Given the description of an element on the screen output the (x, y) to click on. 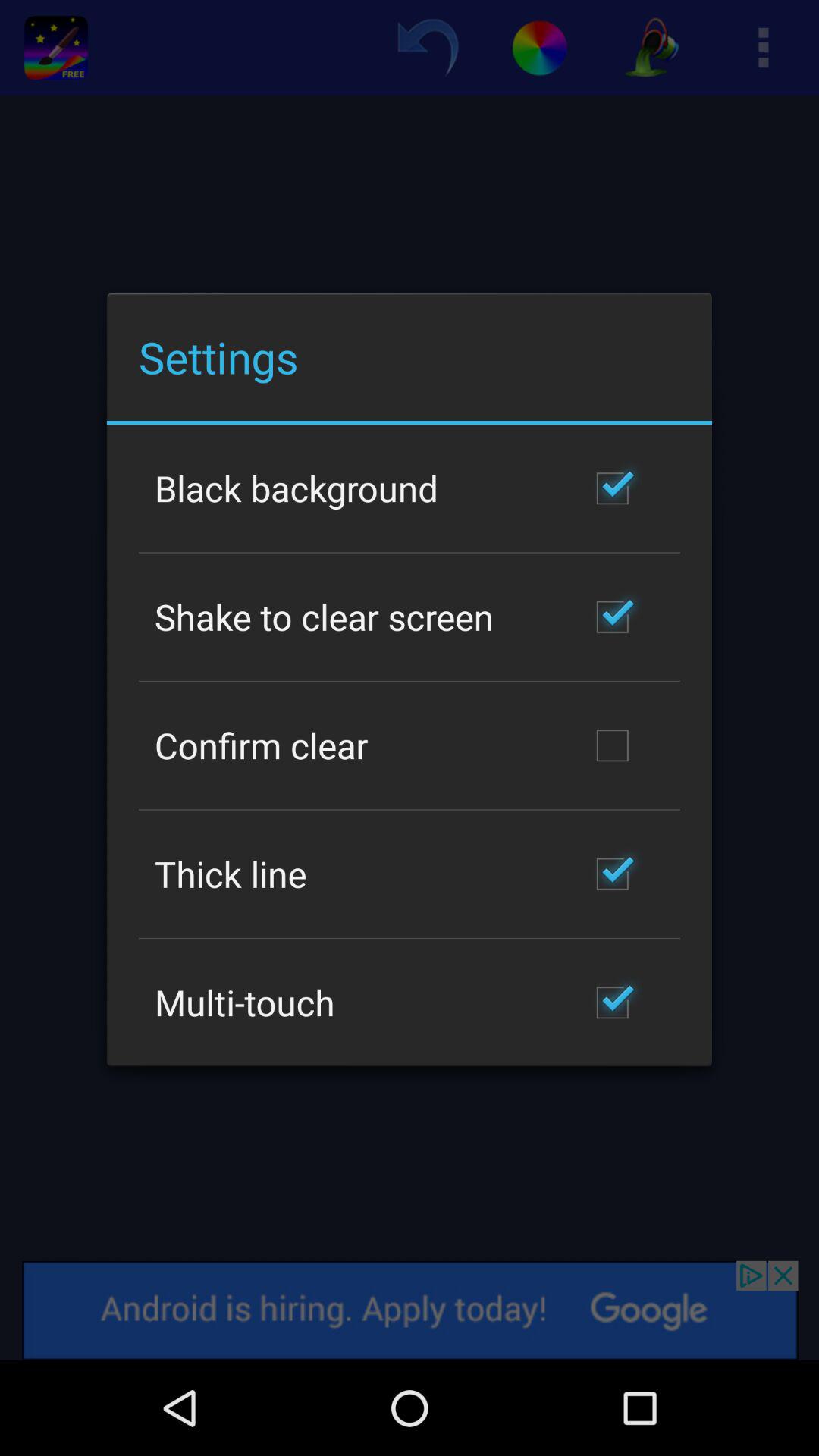
turn off multi-touch app (244, 1002)
